Given the description of an element on the screen output the (x, y) to click on. 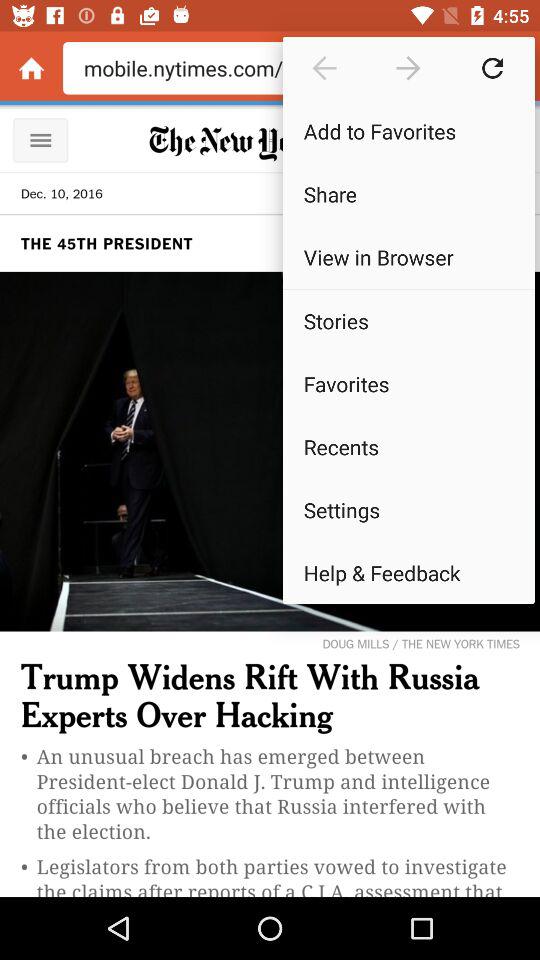
refresh (492, 67)
